Given the description of an element on the screen output the (x, y) to click on. 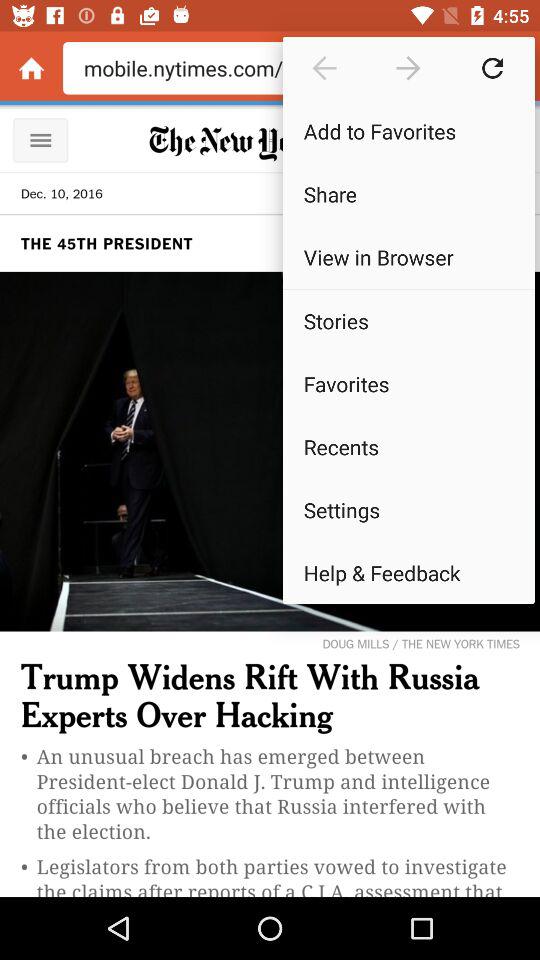
refresh (492, 67)
